Given the description of an element on the screen output the (x, y) to click on. 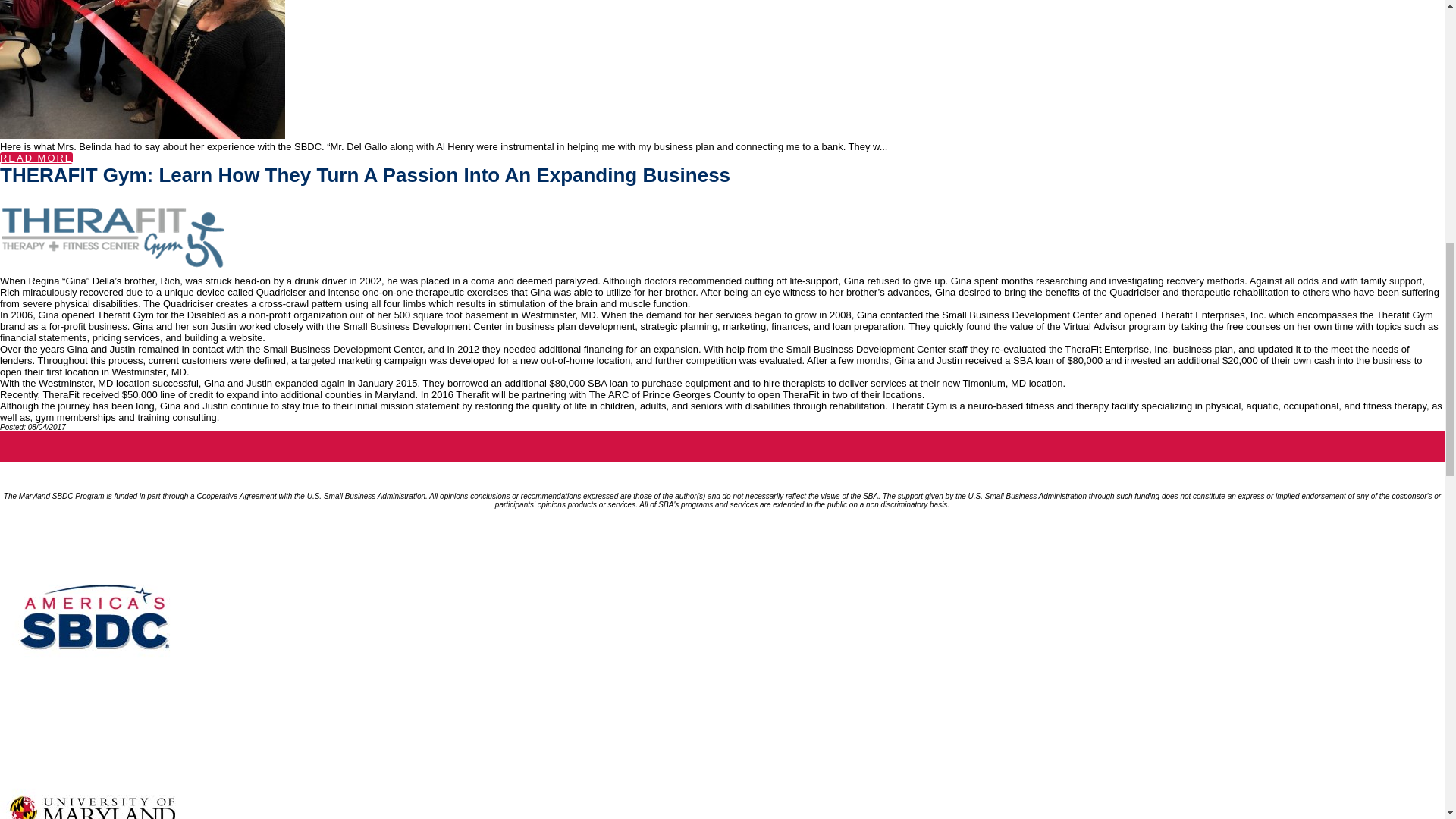
READ MORE (36, 157)
